Given the description of an element on the screen output the (x, y) to click on. 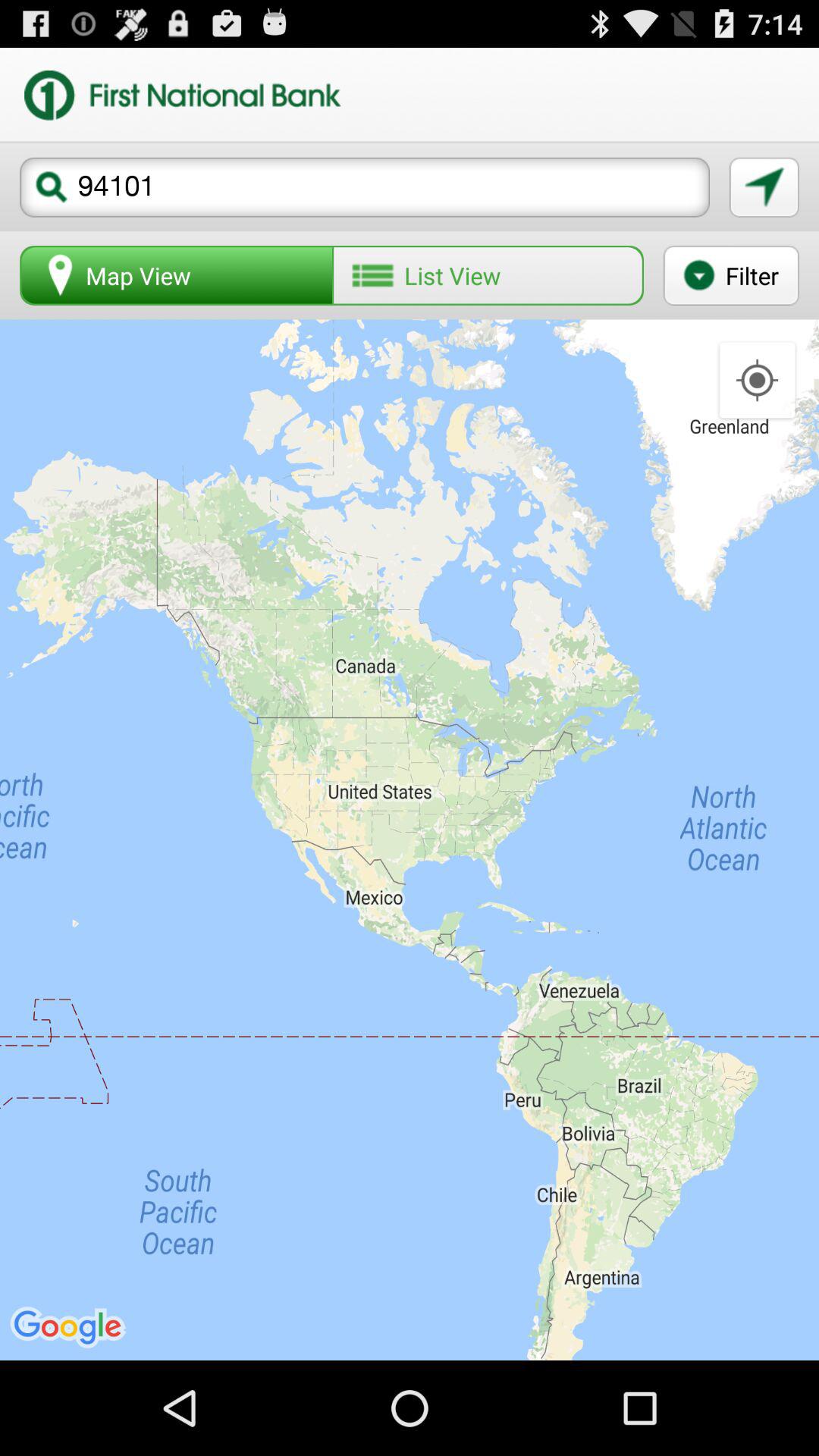
turn off the item below 94101 icon (487, 275)
